Given the description of an element on the screen output the (x, y) to click on. 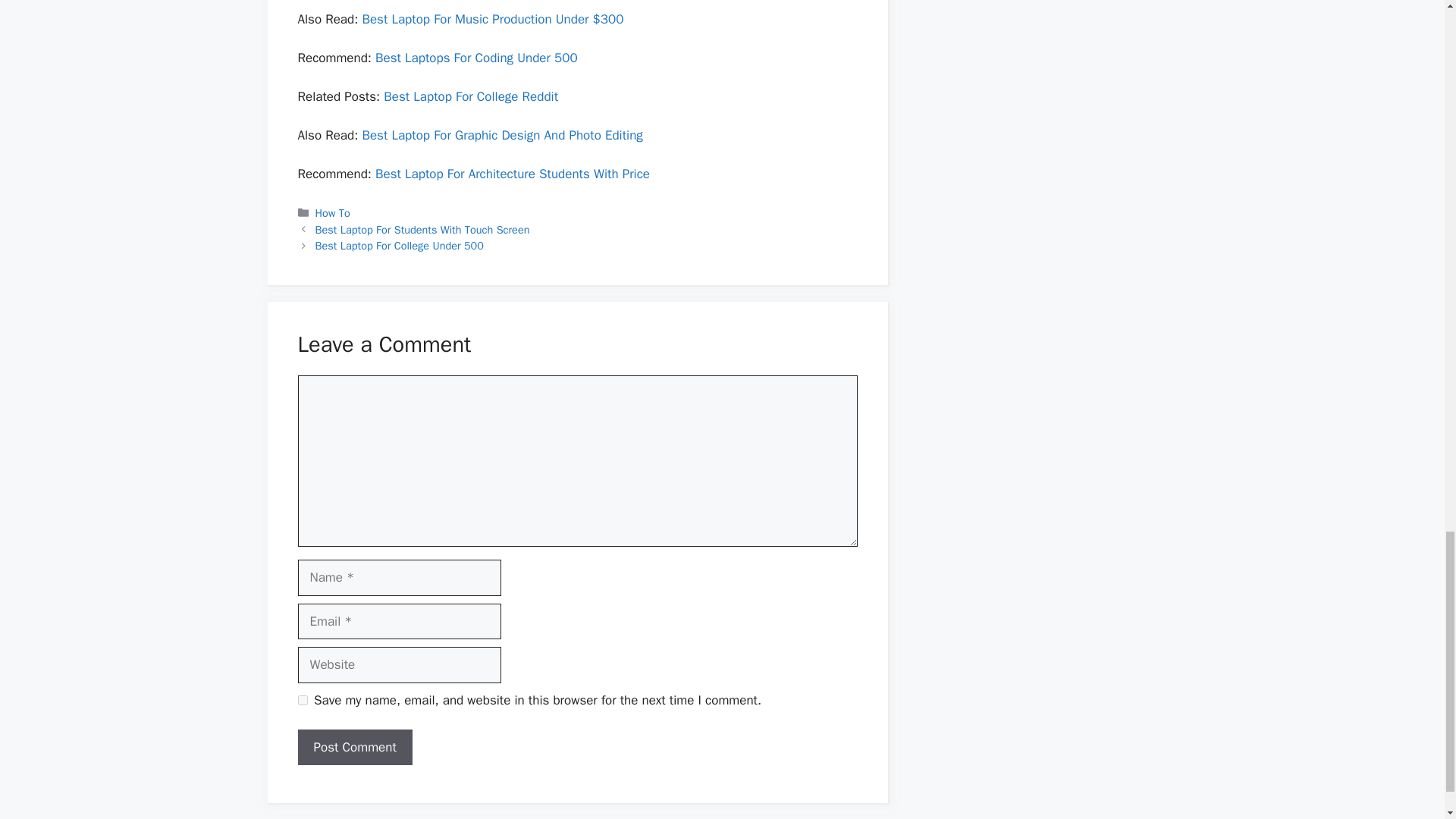
Post Comment (354, 747)
Best Laptops For Coding Under 500 (476, 57)
Best Laptop For Architecture Students With Price (512, 173)
Best Laptop For College Under 500 (399, 245)
How To (332, 213)
Post Comment (354, 747)
Best Laptop For Graphic Design And Photo Editing (501, 135)
Best Laptop For Students With Touch Screen (422, 229)
yes (302, 700)
Best Laptop For College Reddit (470, 96)
